Given the description of an element on the screen output the (x, y) to click on. 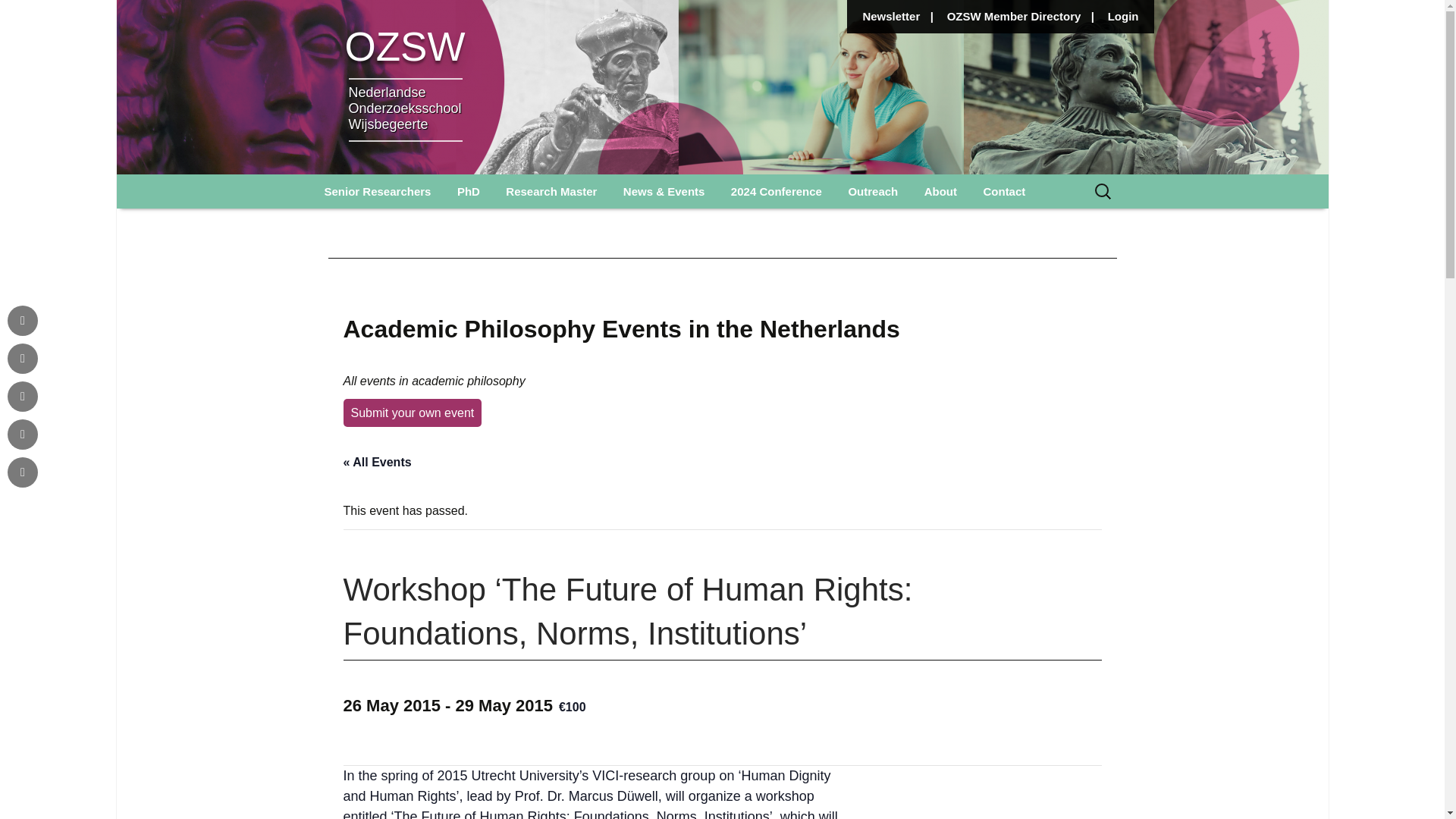
About (940, 191)
Login (1123, 19)
Section Ethics and Practical Philosophy (388, 230)
Research Master (551, 191)
Event Calendar (686, 225)
Mission (988, 225)
Information for ReMa students (570, 230)
Outreach (911, 225)
PhD (468, 191)
2024 Conference (775, 191)
Outreach (871, 191)
